Given the description of an element on the screen output the (x, y) to click on. 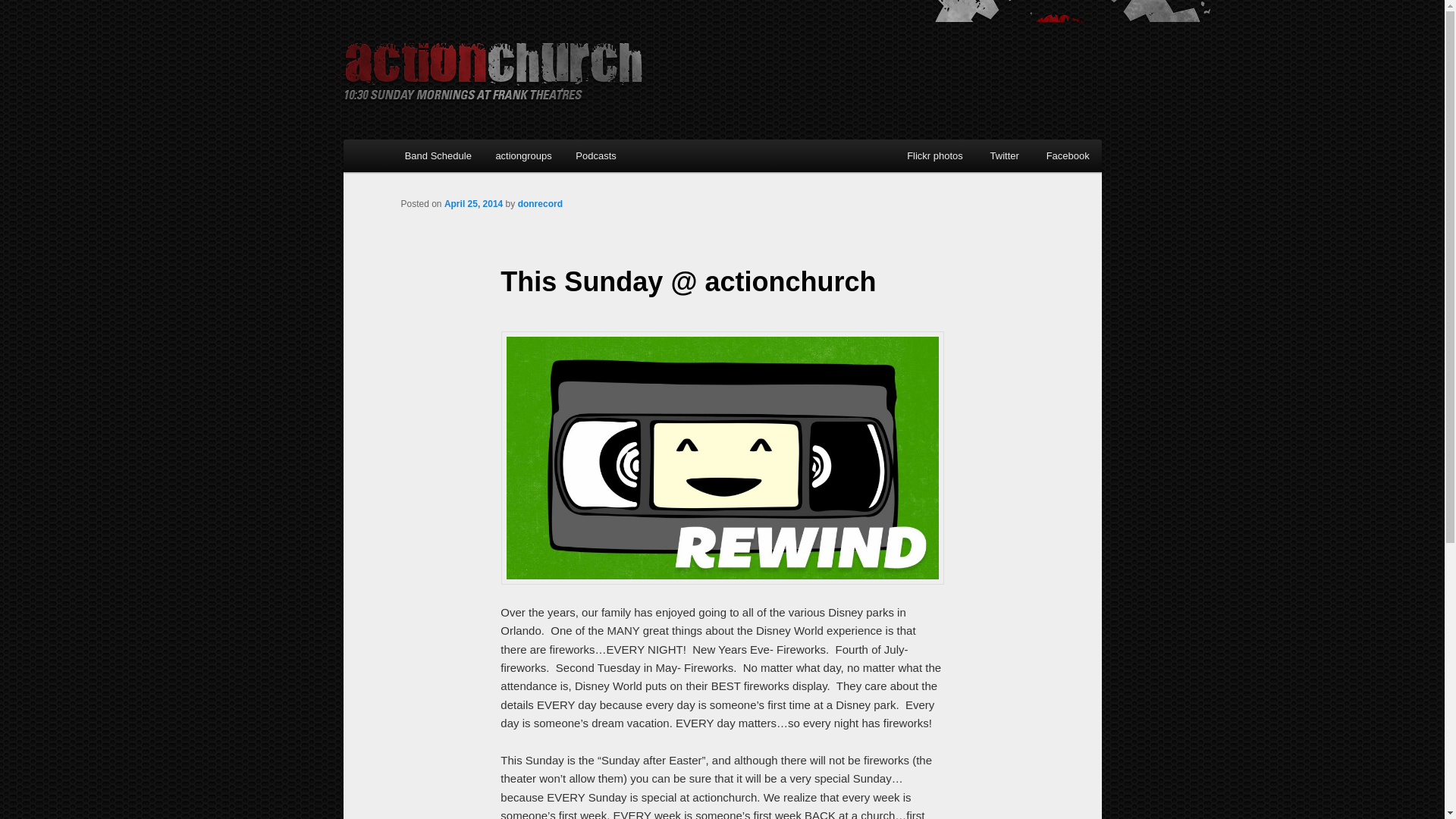
April 25, 2014 (473, 204)
Flickr photos (940, 155)
Band Schedule (438, 155)
Bands playing at actionchurch at Frank Theatres in York, PA (438, 155)
Facebook (1074, 155)
actionchurch (490, 66)
actiongroups (523, 155)
donrecord (540, 204)
Skip to primary content (472, 158)
Skip to primary content (472, 158)
